Given the description of an element on the screen output the (x, y) to click on. 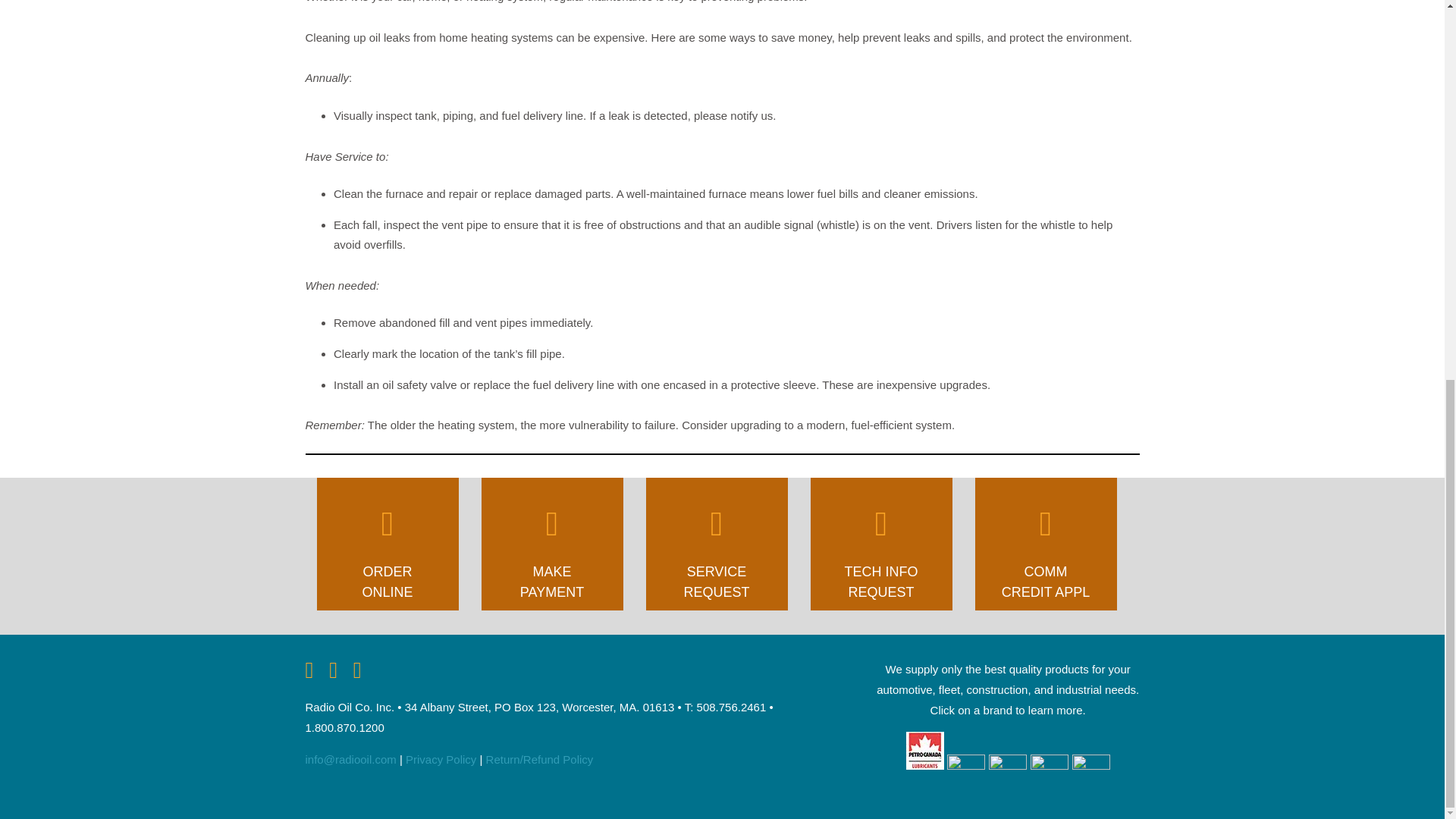
ORDER ONLINE (386, 547)
SERVICE REQUEST (716, 547)
COMM CREDIT APPL (1045, 547)
Privacy Policy (441, 758)
TECH INFO REQUEST (881, 547)
MAKE PAYMENT (552, 547)
